Given the description of an element on the screen output the (x, y) to click on. 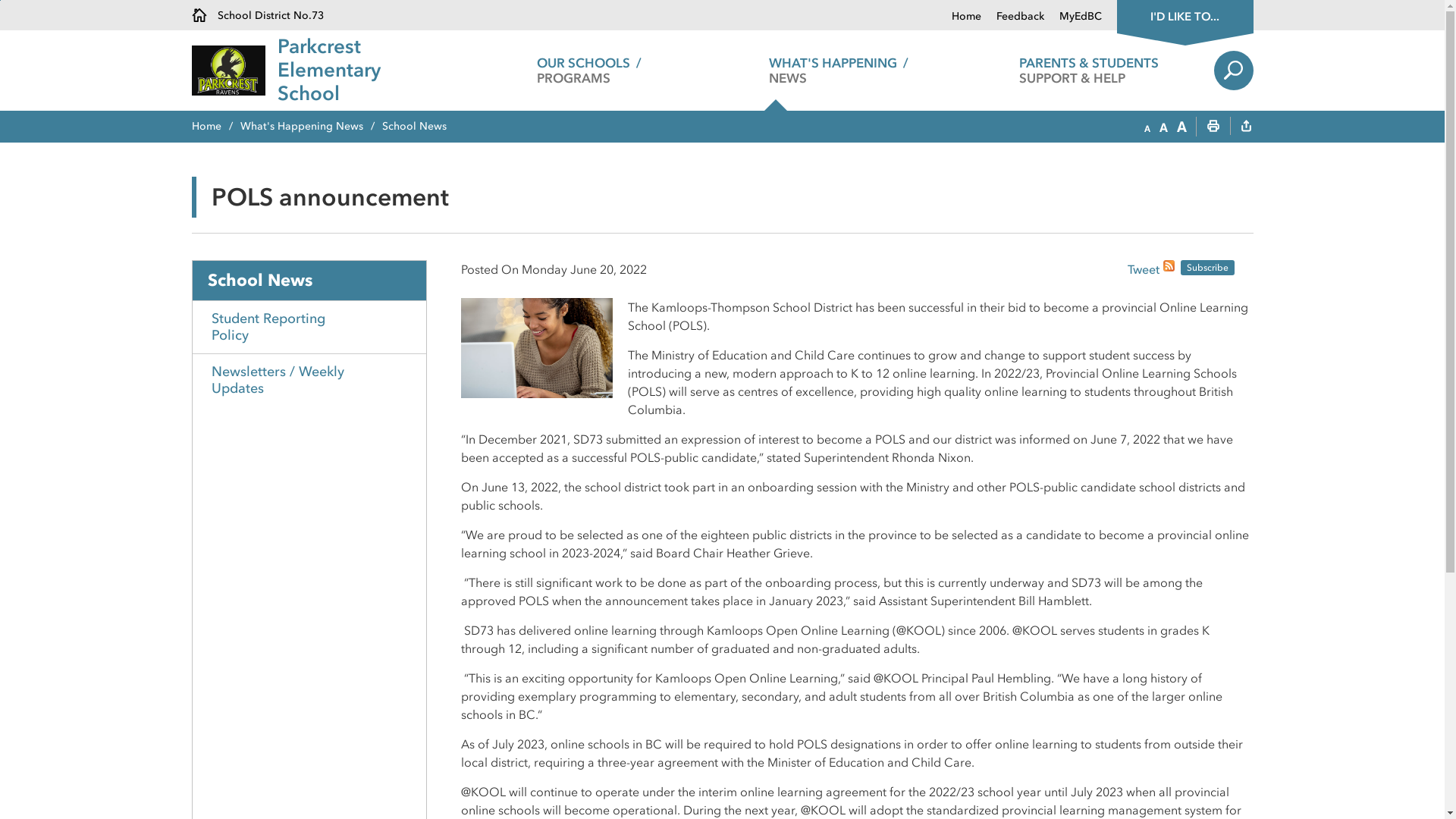
Newsletters / Weekly Updates Element type: text (309, 379)
facebook like button Element type: hover (1087, 268)
School District No.73 Element type: text (257, 15)
Home Element type: text (215, 125)
Skip to Content Element type: text (0, 0)
WHAT'S HAPPENING
NEWS Element type: text (838, 70)
What's Happening News Element type: text (310, 125)
School News Element type: text (309, 280)
Student Reporting Policy Element type: text (309, 326)
Subscribe Element type: text (1206, 267)
Feedback Element type: text (1012, 15)
Parkcrest Elementary
School Element type: text (370, 70)
Home Element type: text (965, 15)
  Element type: text (1245, 126)
OUR SCHOOLS
PROGRAMS Element type: text (588, 70)
Decrease text size Element type: hover (1146, 126)
Click to return to the homepage Element type: hover (234, 70)
MyEdBC Element type: text (1072, 15)
NM_Girl_at_computer Element type: hover (536, 346)
Tweet Element type: text (1142, 270)
Increase text size Element type: hover (1181, 126)
PARENTS & STUDENTS
SUPPORT & HELP Element type: text (1088, 70)
Default text size Element type: hover (1162, 126)
Search Element type: text (1232, 70)
I'D LIKE TO... Element type: text (1184, 15)
Print This Page Element type: hover (1212, 126)
